Given the description of an element on the screen output the (x, y) to click on. 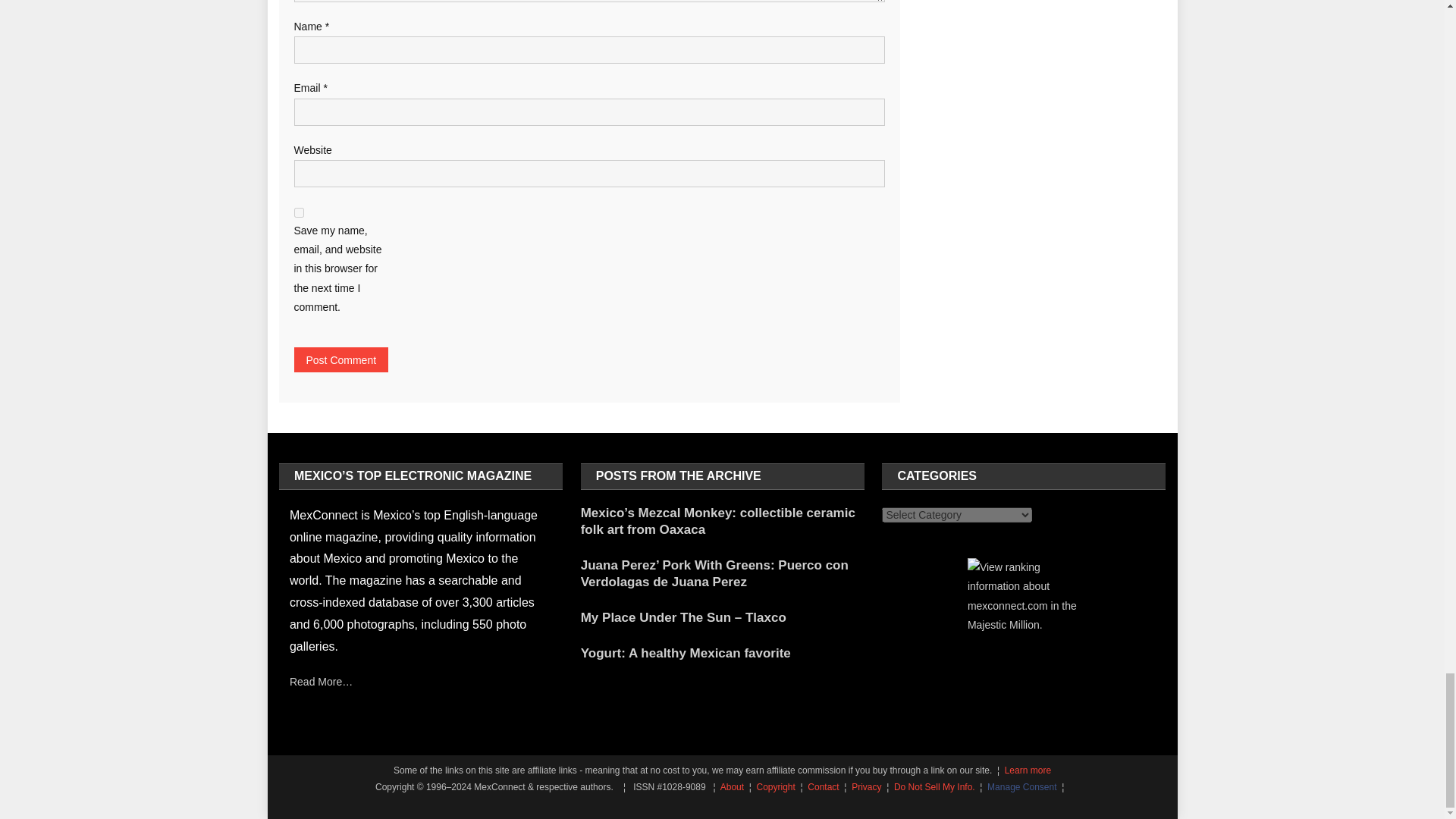
yes (299, 212)
Post Comment (341, 359)
